Given the description of an element on the screen output the (x, y) to click on. 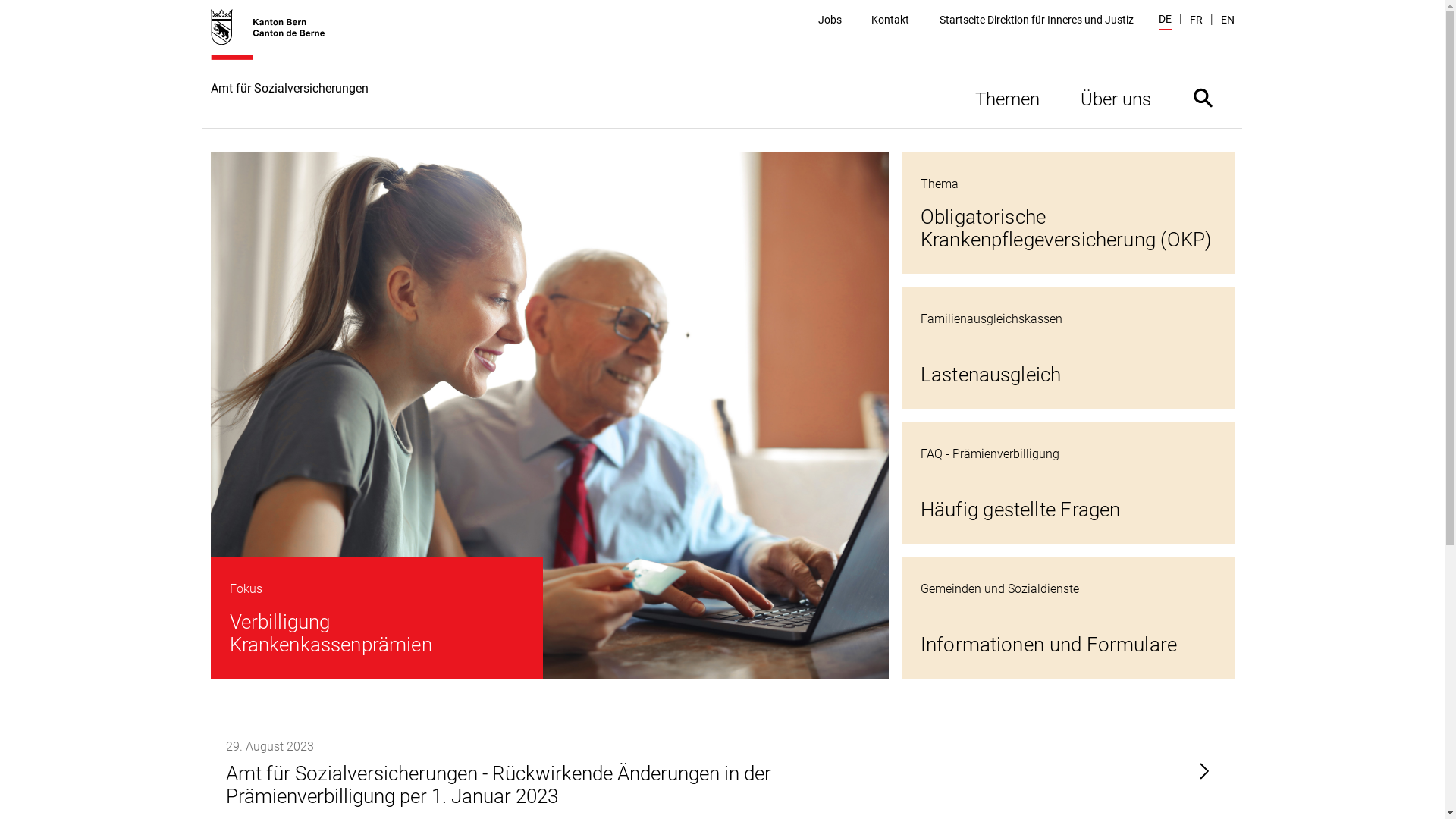
Kontakt Element type: text (890, 19)
DE Element type: text (1164, 21)
Lastenausgleich
Familienausgleichskassen Element type: text (1067, 347)
Themen Element type: text (1006, 96)
Suche ein- oder ausblenden Element type: text (1201, 96)
Jobs Element type: text (829, 19)
FR Element type: text (1195, 19)
Obligatorische Krankenpflegeversicherung (OKP)
Thema Element type: text (1067, 212)
EN Element type: text (1227, 19)
Informationen und Formulare
Gemeinden und Sozialdienste Element type: text (1067, 617)
